Given the description of an element on the screen output the (x, y) to click on. 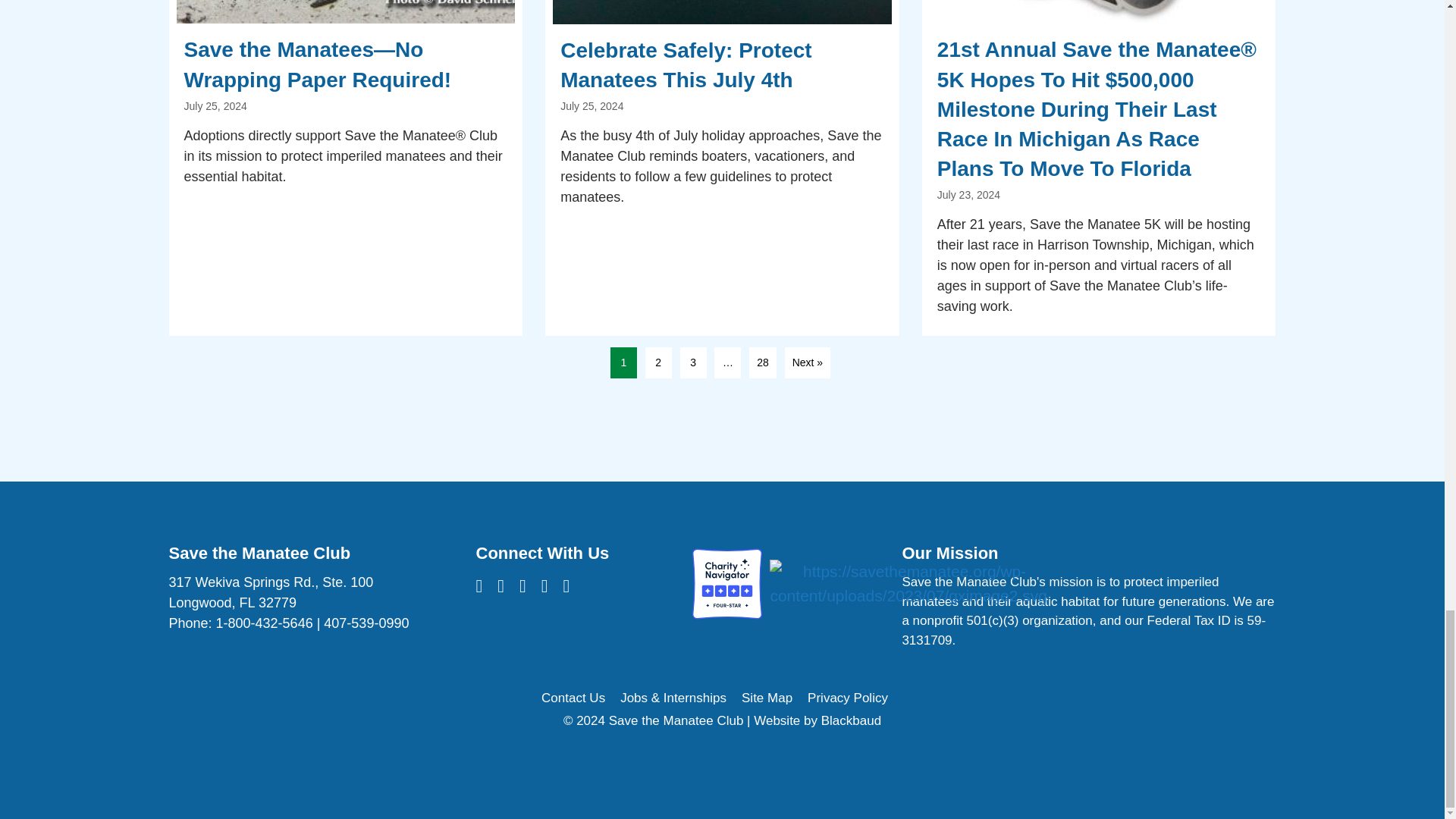
Celebrate Safely: Protect Manatees This July 4th (721, 168)
Florida Manatee (722, 12)
Blobid2 1720794056115 (345, 12)
Blobid0 1720625845581 (1099, 12)
